Given the description of an element on the screen output the (x, y) to click on. 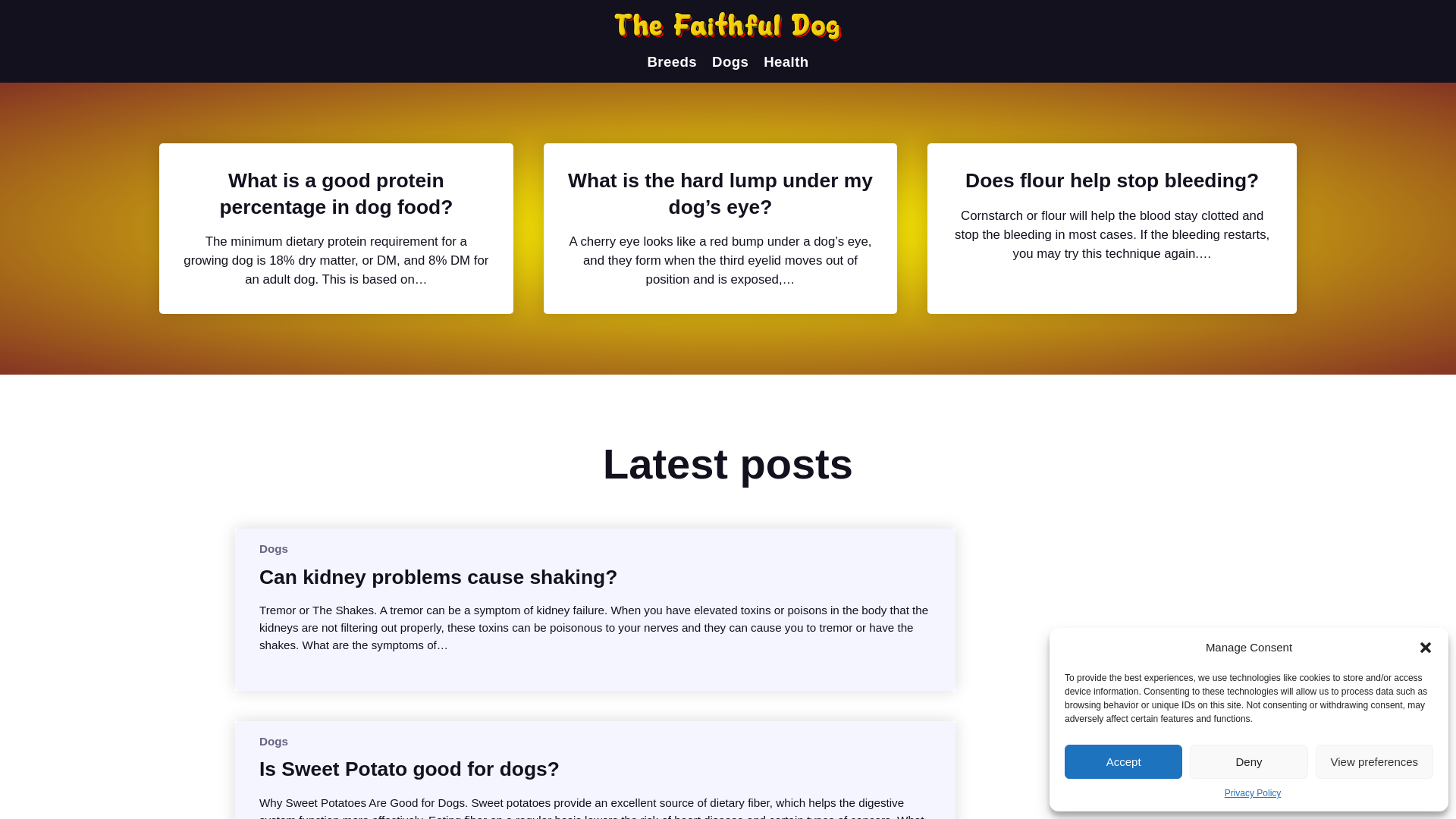
Does flour help stop bleeding? (1112, 180)
Can kidney problems cause shaking? (438, 576)
Dogs (273, 740)
Is Sweet Potato good for dogs? (409, 768)
Dogs (729, 62)
Dogs (273, 548)
Deny (1248, 761)
Health (785, 62)
Breeds (671, 62)
Privacy Policy (1252, 793)
View preferences (1374, 761)
What is a good protein percentage in dog food? (336, 193)
Accept (1123, 761)
